Given the description of an element on the screen output the (x, y) to click on. 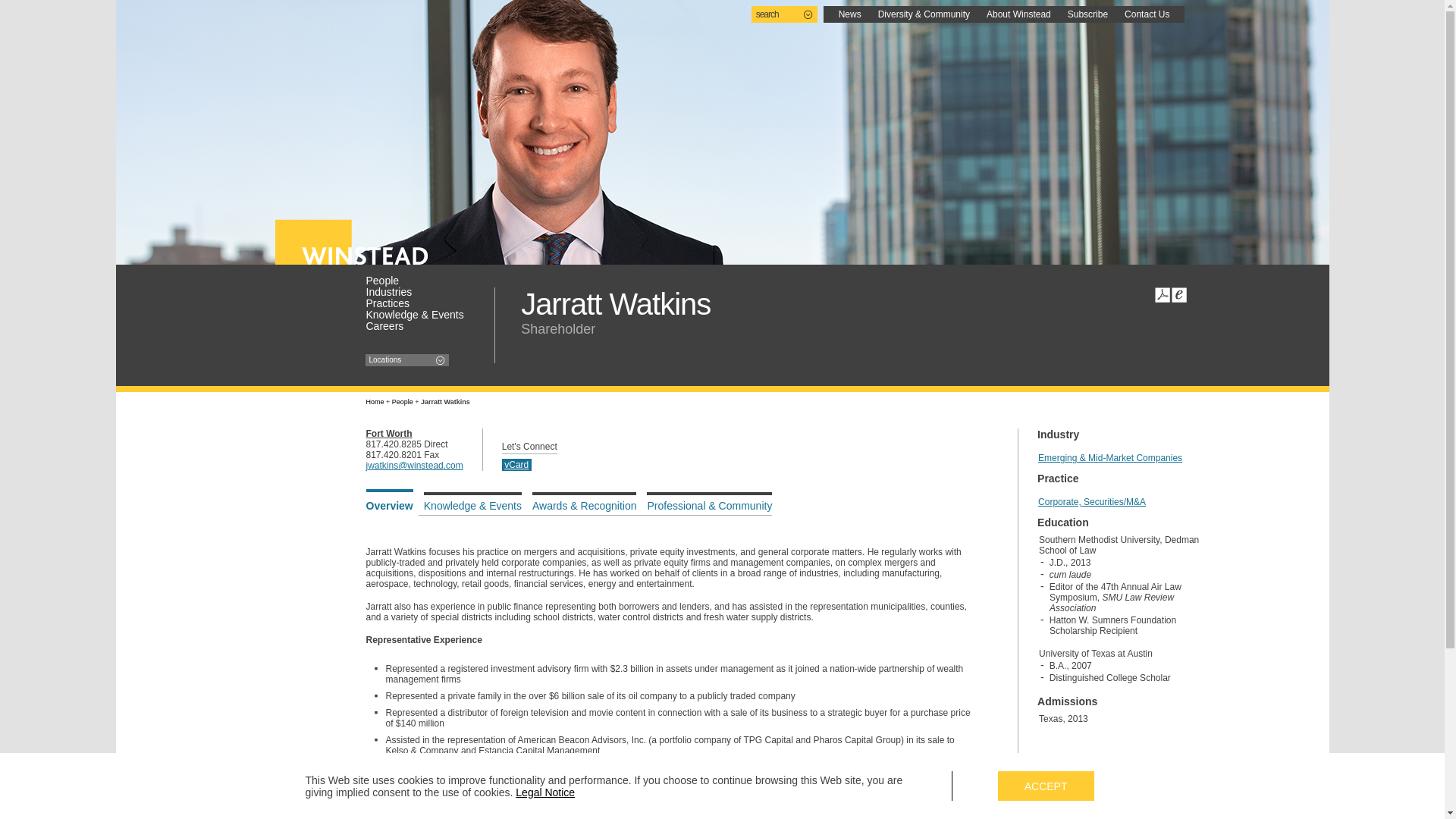
Print to PDF (1162, 294)
News (849, 14)
About Winstead (1019, 14)
Email Page (1179, 294)
Contact Us (1146, 14)
People (418, 280)
Subscribe (1087, 14)
